Given the description of an element on the screen output the (x, y) to click on. 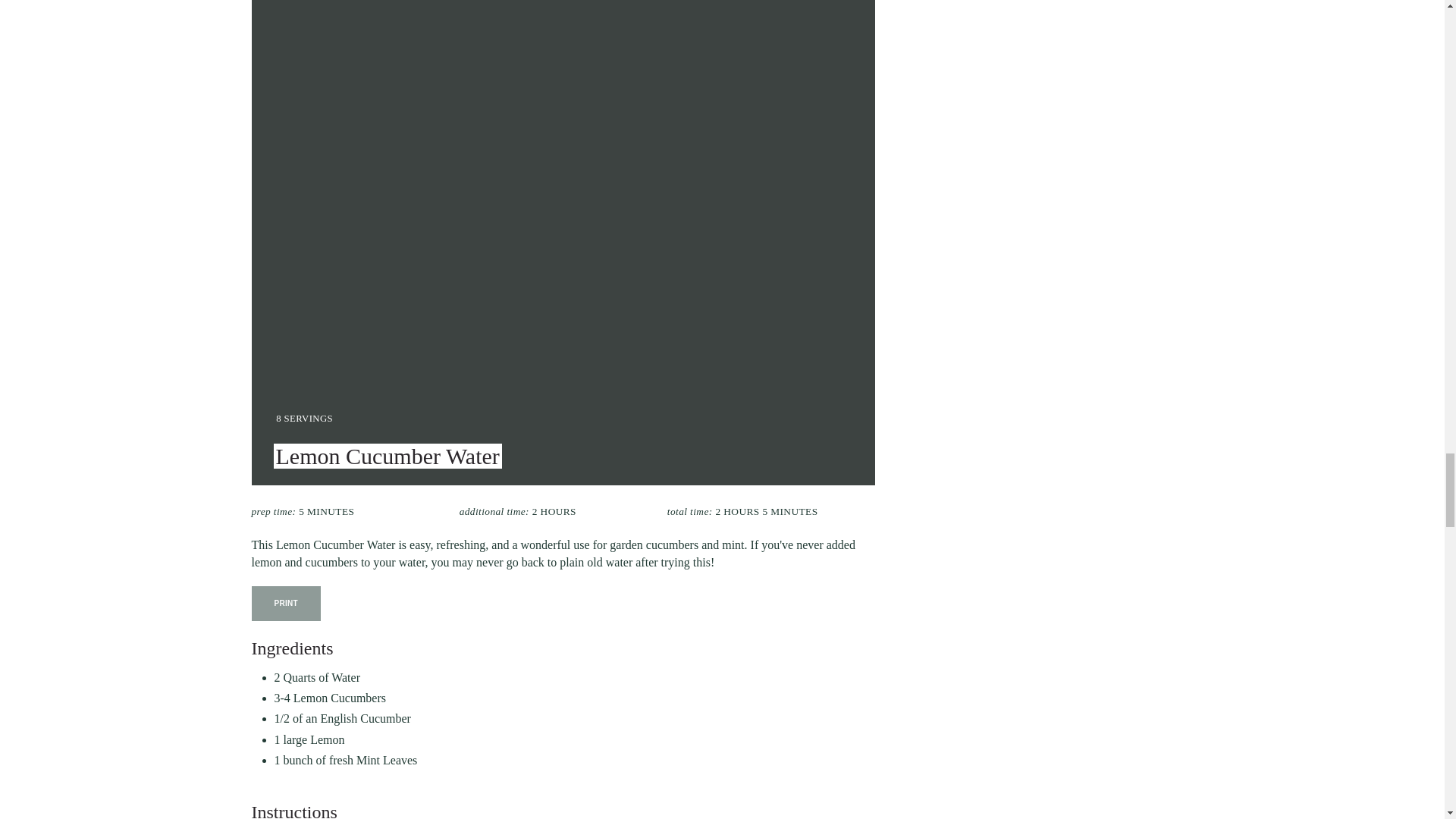
PRINT (286, 603)
